Given the description of an element on the screen output the (x, y) to click on. 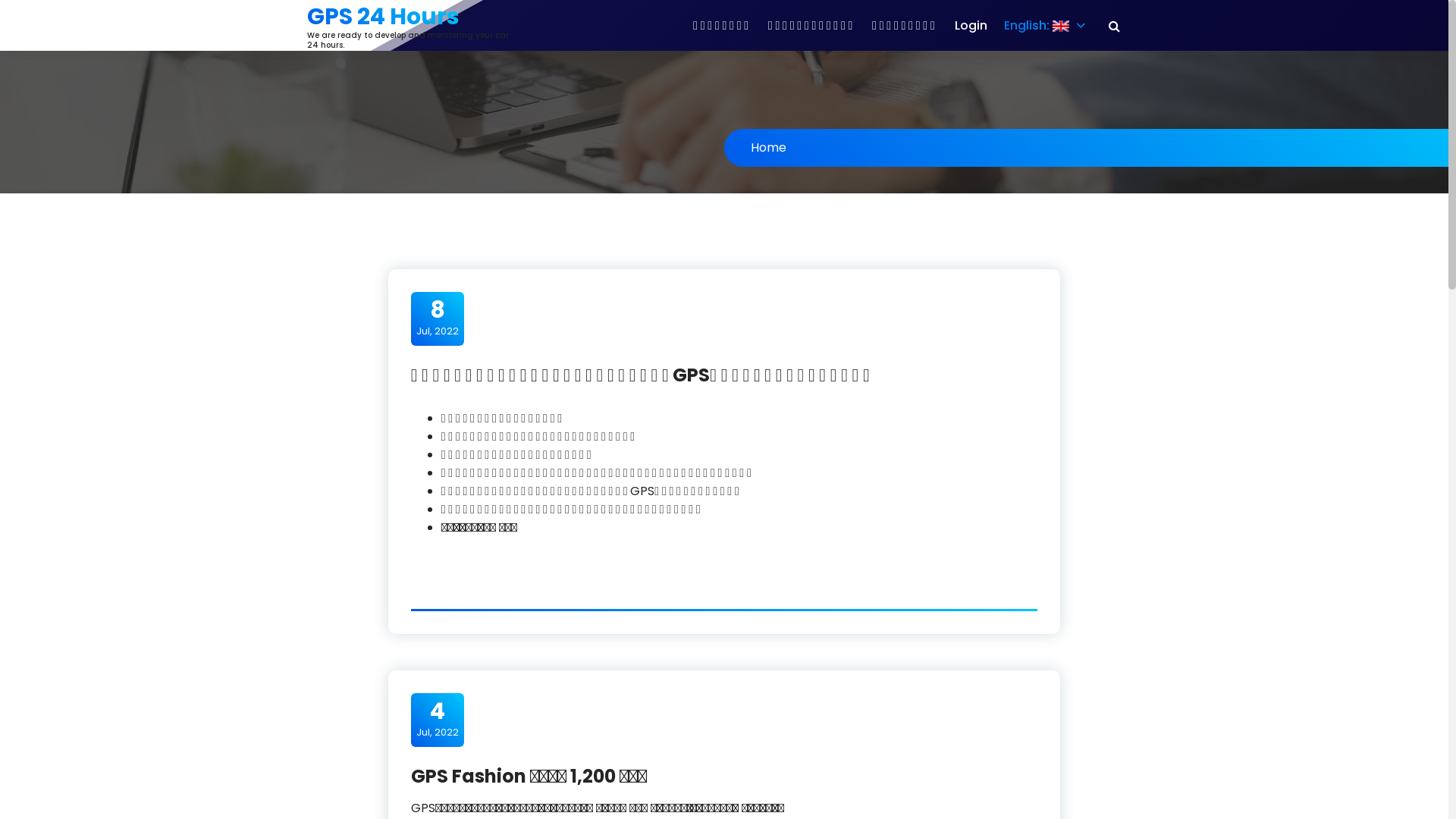
Login Element type: text (969, 25)
Home Element type: text (768, 147)
8
Jul, 2022 Element type: text (436, 317)
GPS 24 Hours Element type: text (383, 16)
4
Jul, 2022 Element type: text (436, 719)
English:  Element type: text (1041, 25)
ColorPress Element type: text (1096, 784)
